Given the description of an element on the screen output the (x, y) to click on. 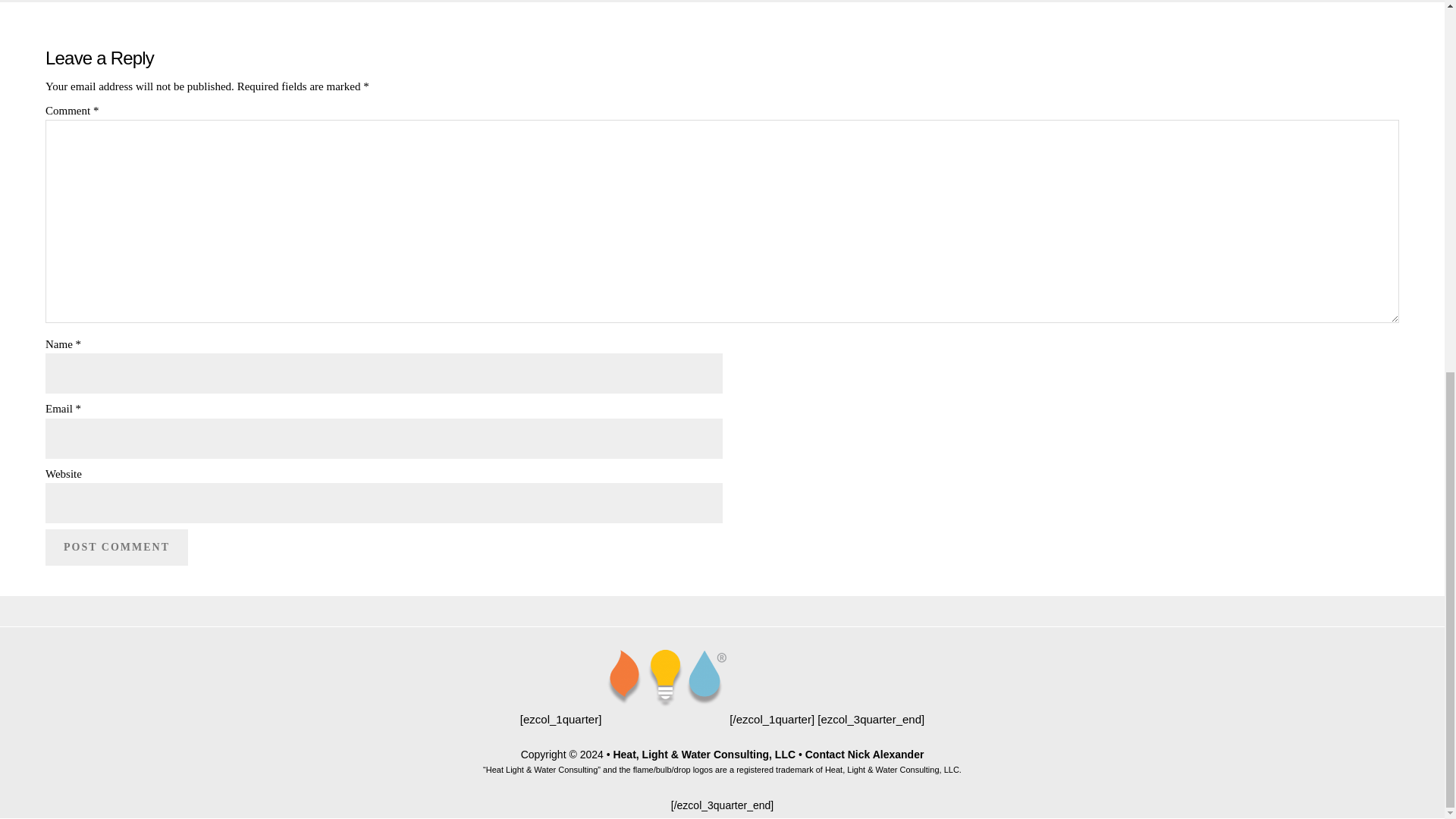
Post Comment (116, 547)
Post Comment (116, 547)
Contact Nick Alexander (864, 754)
